Given the description of an element on the screen output the (x, y) to click on. 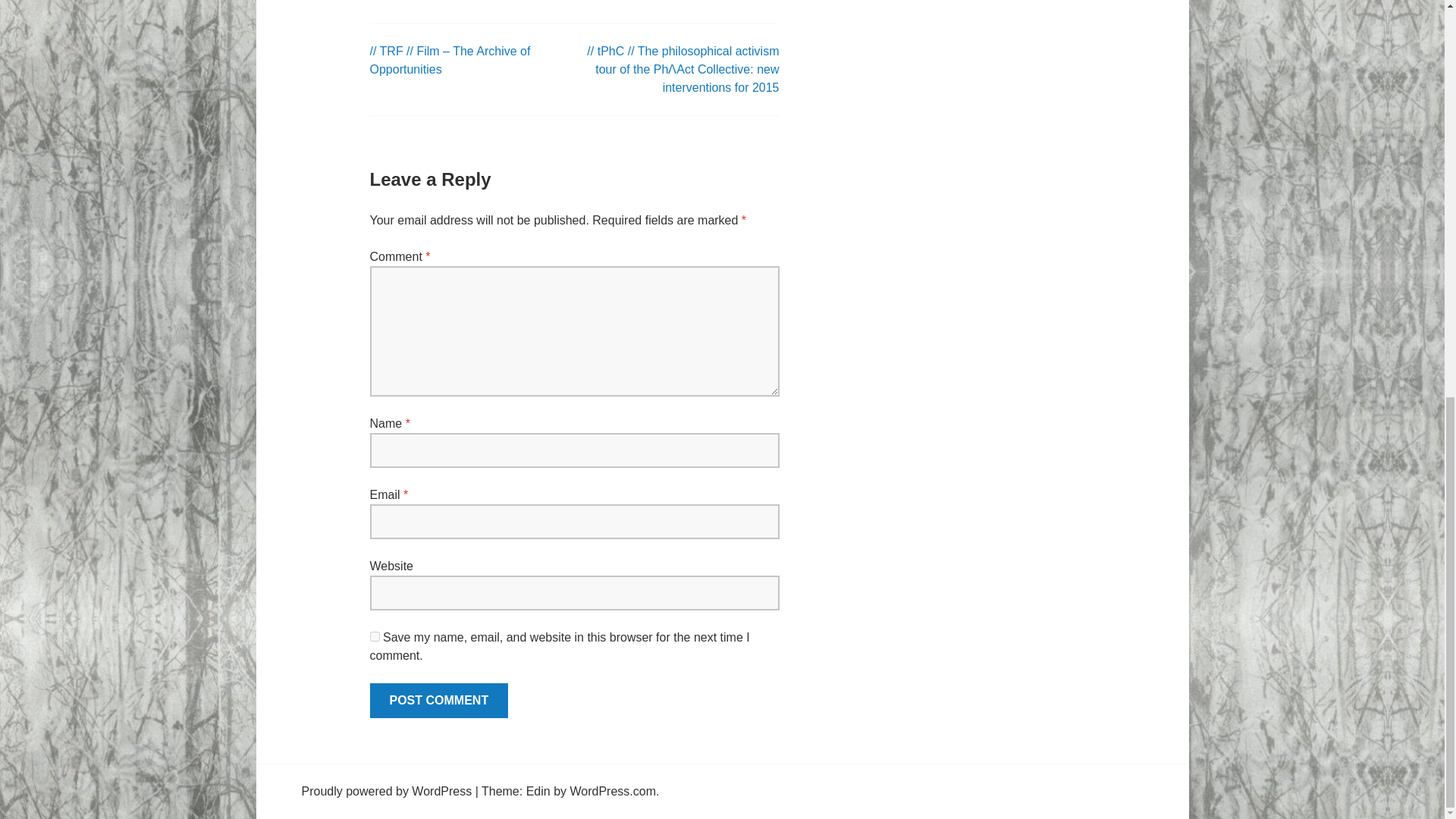
yes (374, 636)
WordPress.com (612, 790)
Post Comment (438, 700)
Post Comment (438, 700)
Proudly powered by WordPress (386, 790)
